Given the description of an element on the screen output the (x, y) to click on. 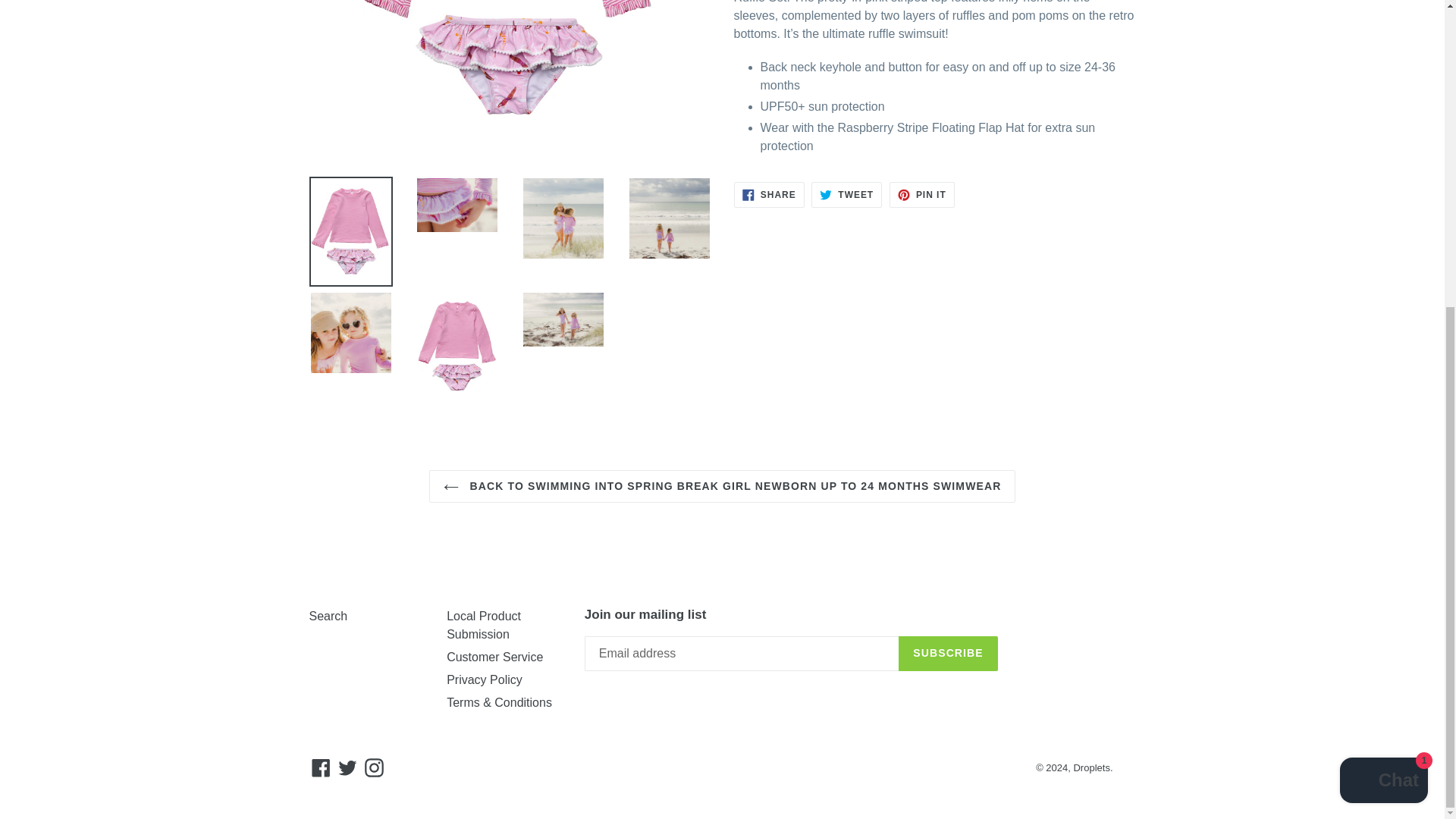
Droplets. on Twitter (347, 767)
Share on Facebook (769, 194)
Droplets. on Facebook (320, 767)
Pin on Pinterest (922, 194)
Droplets. on Instagram (373, 767)
Shopify online store chat (1383, 298)
Tweet on Twitter (846, 194)
